Given the description of an element on the screen output the (x, y) to click on. 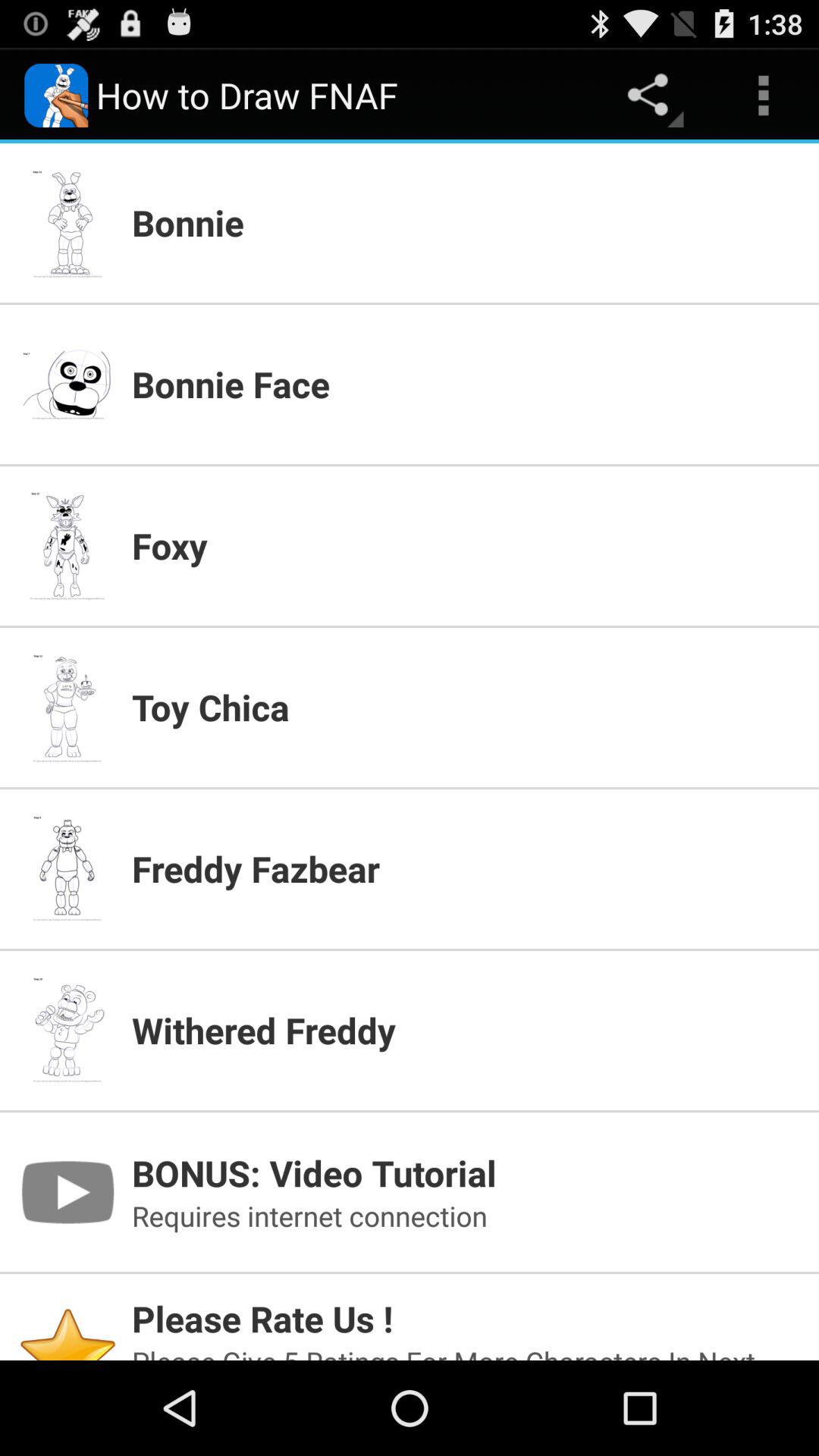
turn on the item below the bonnie item (465, 384)
